Given the description of an element on the screen output the (x, y) to click on. 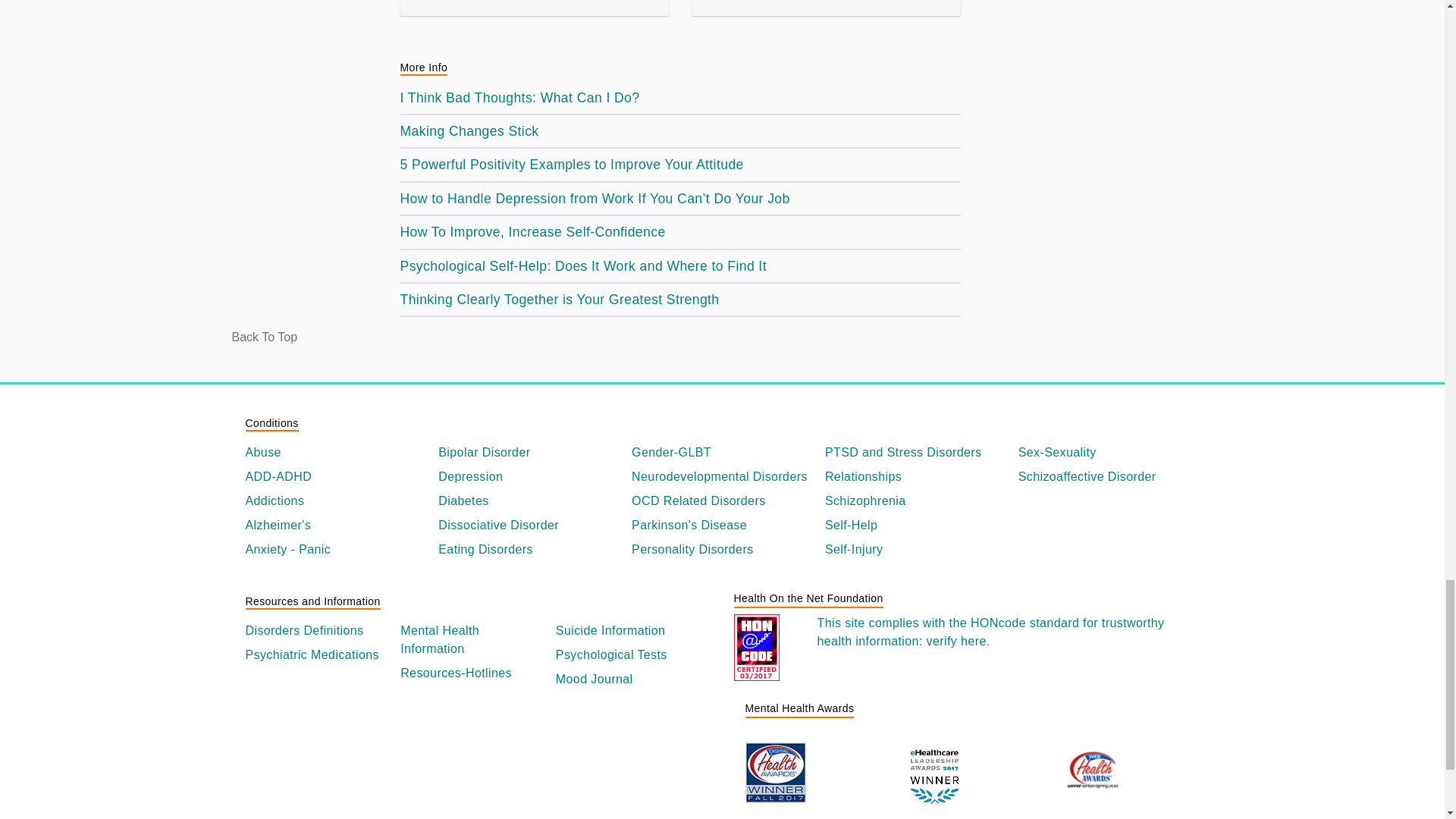
Parkinson's Disease Information Articles (721, 525)
